Given the description of an element on the screen output the (x, y) to click on. 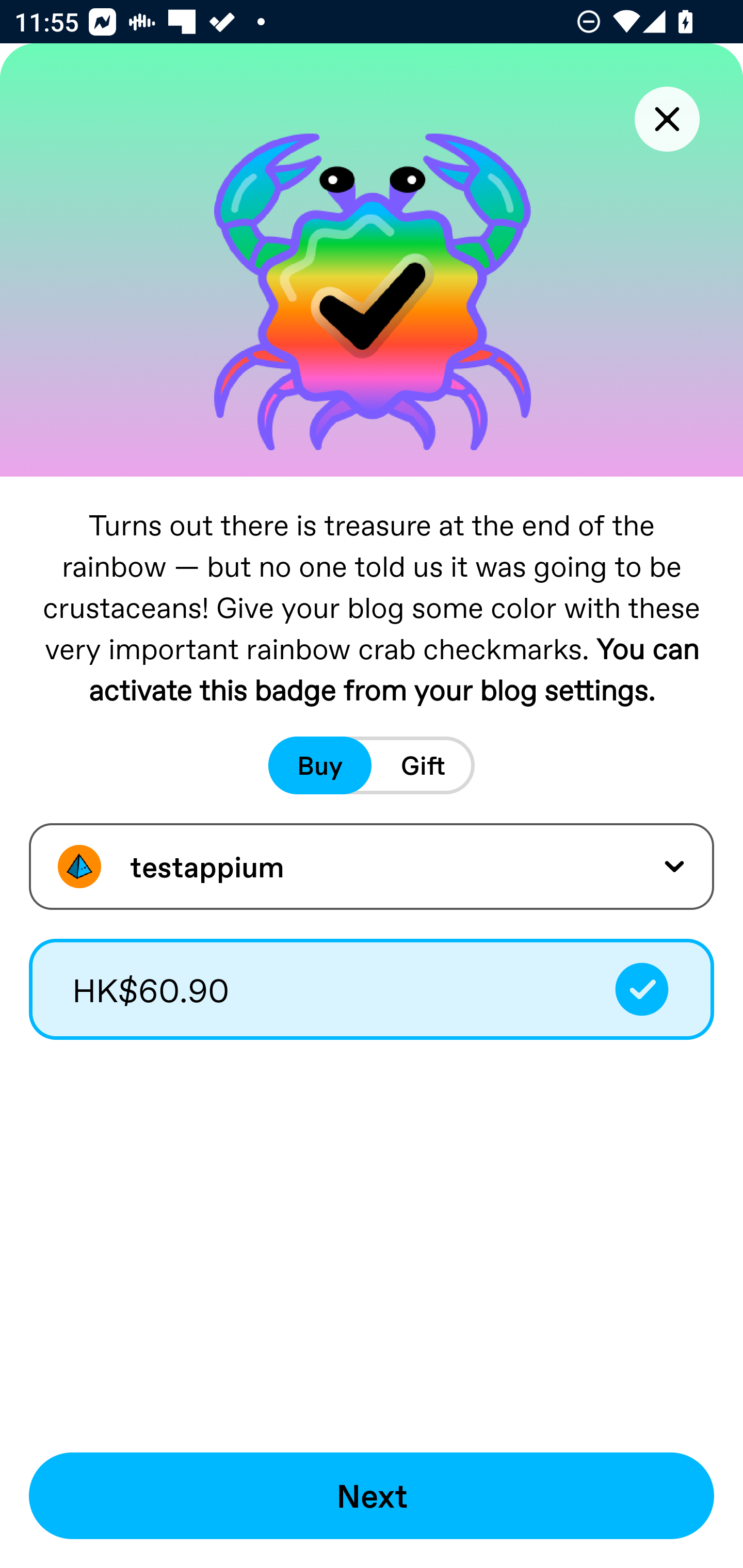
Buy (319, 765)
Gift (423, 765)
testappium (371, 866)
Next (371, 1495)
